Given the description of an element on the screen output the (x, y) to click on. 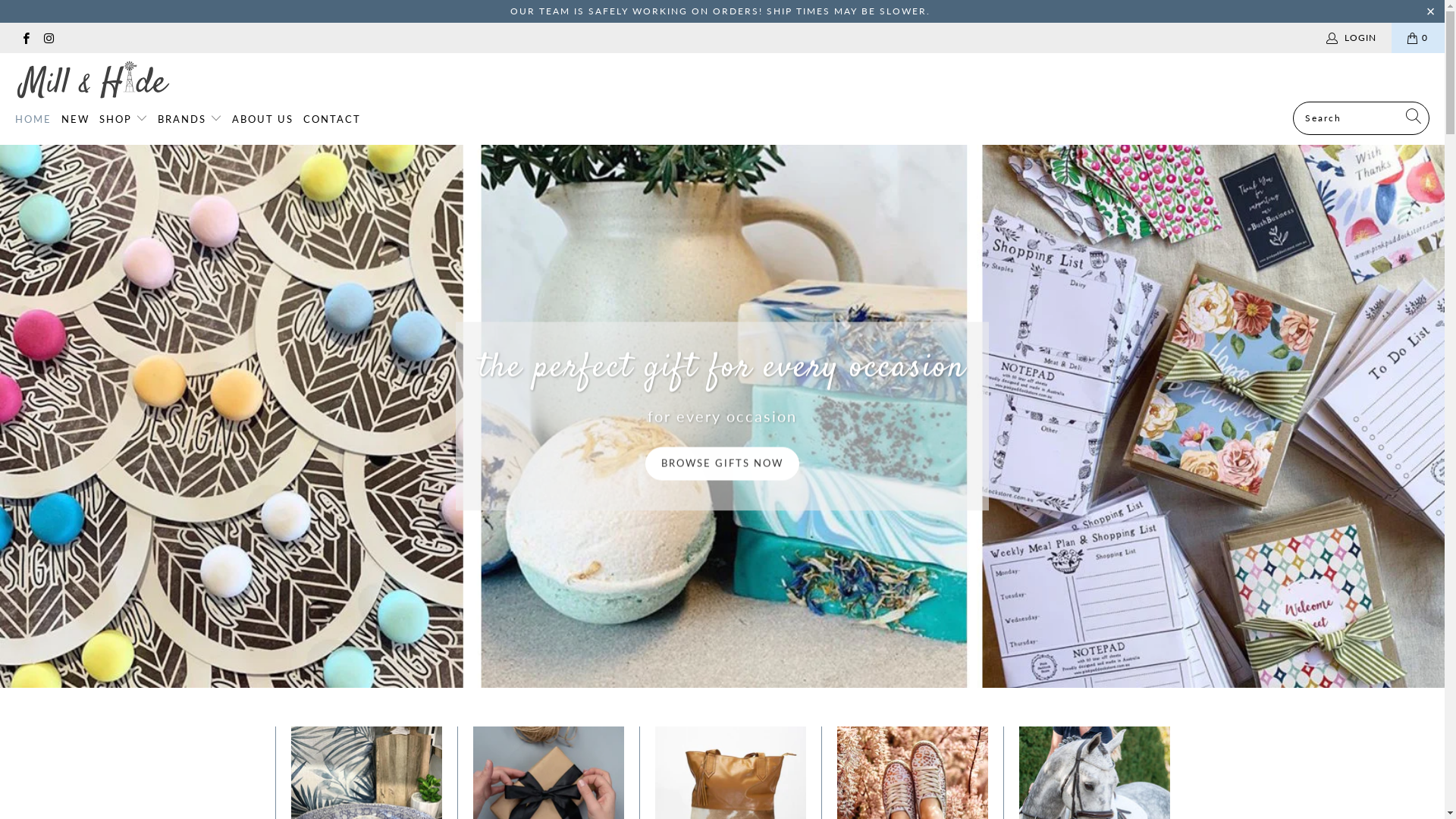
NEW Element type: text (75, 119)
ABOUT US Element type: text (262, 119)
SHOP Element type: text (123, 119)
CONTACT Element type: text (331, 119)
HOME Element type: text (33, 119)
0 Element type: text (1417, 37)
LOGIN Element type: text (1352, 37)
BROWSE GIFTS NOW Element type: text (723, 457)
Mill & Hide Element type: hover (92, 80)
BRANDS Element type: text (189, 118)
Mill & Hide on Instagram Element type: hover (47, 37)
Mill & Hide on Facebook Element type: hover (24, 37)
